Given the description of an element on the screen output the (x, y) to click on. 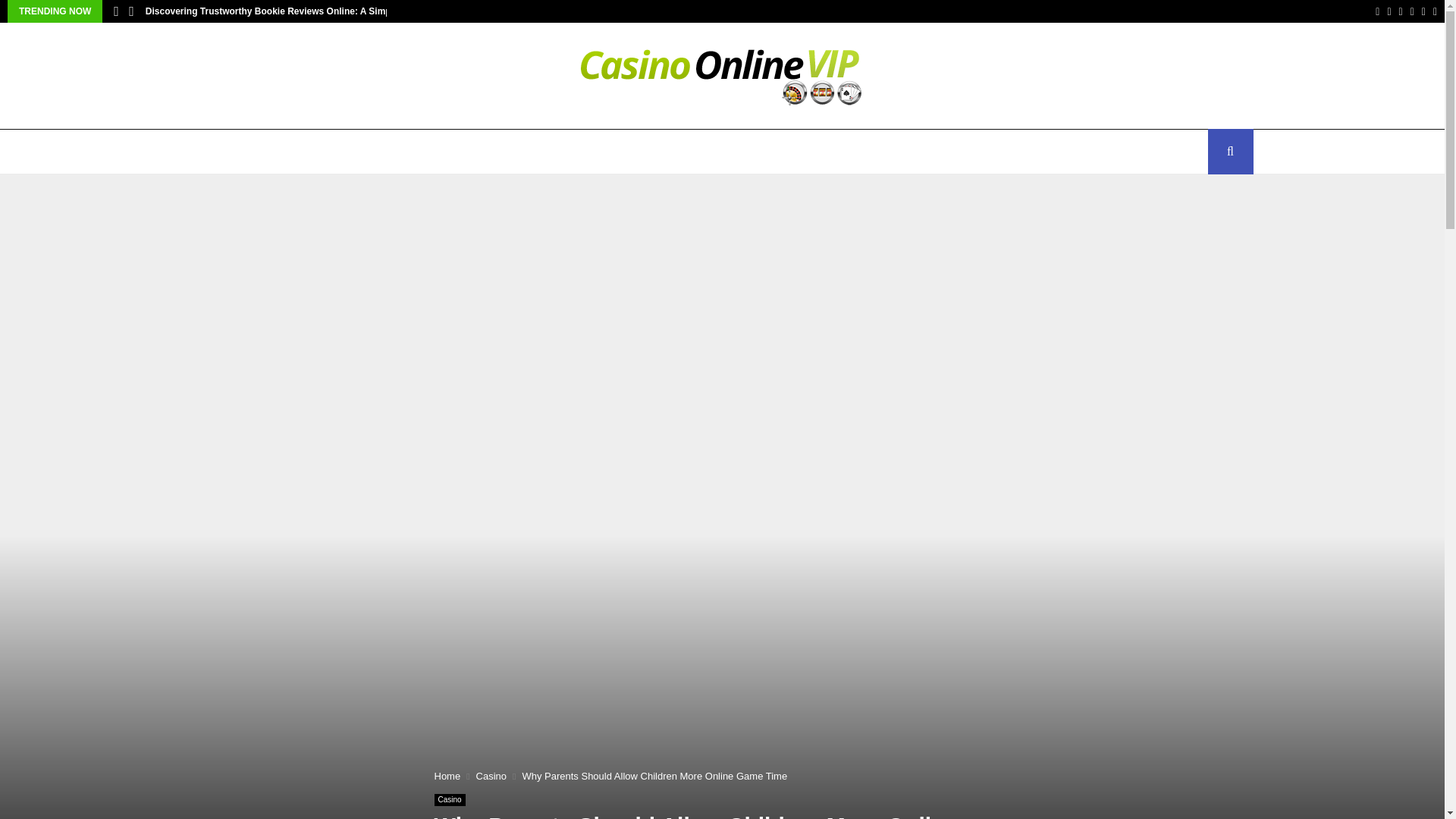
ONLINE GAMES (378, 151)
BETTING (292, 151)
BLACKJACK (622, 151)
LOTTERY (702, 151)
POKER (461, 151)
BINGO TIPS (535, 151)
CASINO (223, 151)
